Given the description of an element on the screen output the (x, y) to click on. 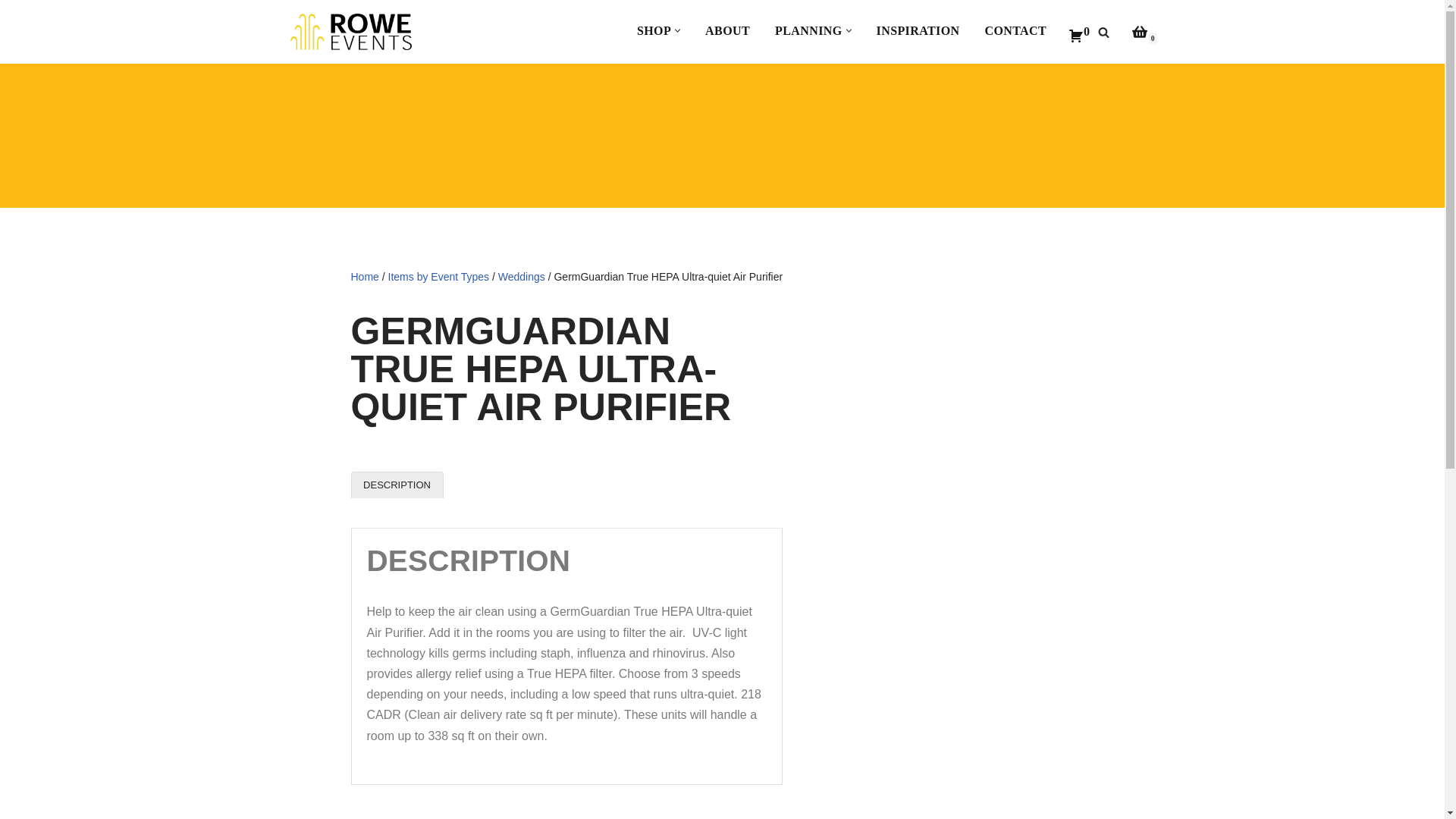
PLANNING (808, 30)
ABOUT (726, 30)
0 (1139, 31)
Skip to content (11, 31)
0 (1078, 31)
View Quote (1078, 31)
SHOP (654, 30)
INSPIRATION (917, 30)
CONTACT (1015, 30)
